Given the description of an element on the screen output the (x, y) to click on. 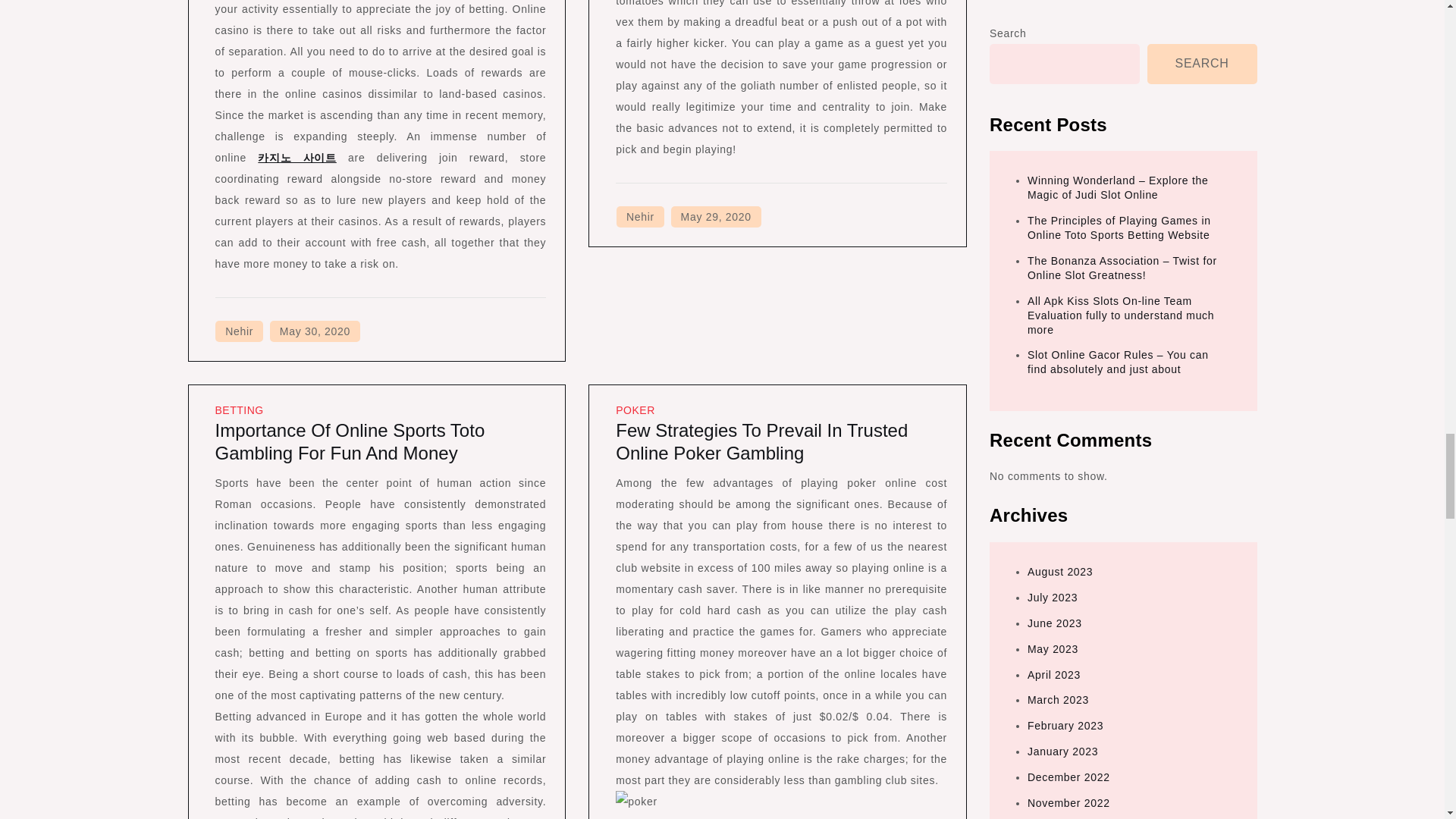
Few Strategies To Prevail In Trusted Online Poker Gambling (761, 441)
Importance Of Online Sports Toto Gambling For Fun And Money (349, 441)
May 29, 2020 (716, 216)
Nehir (239, 331)
Nehir (639, 216)
BETTING (239, 410)
May 30, 2020 (314, 331)
POKER (635, 410)
